Given the description of an element on the screen output the (x, y) to click on. 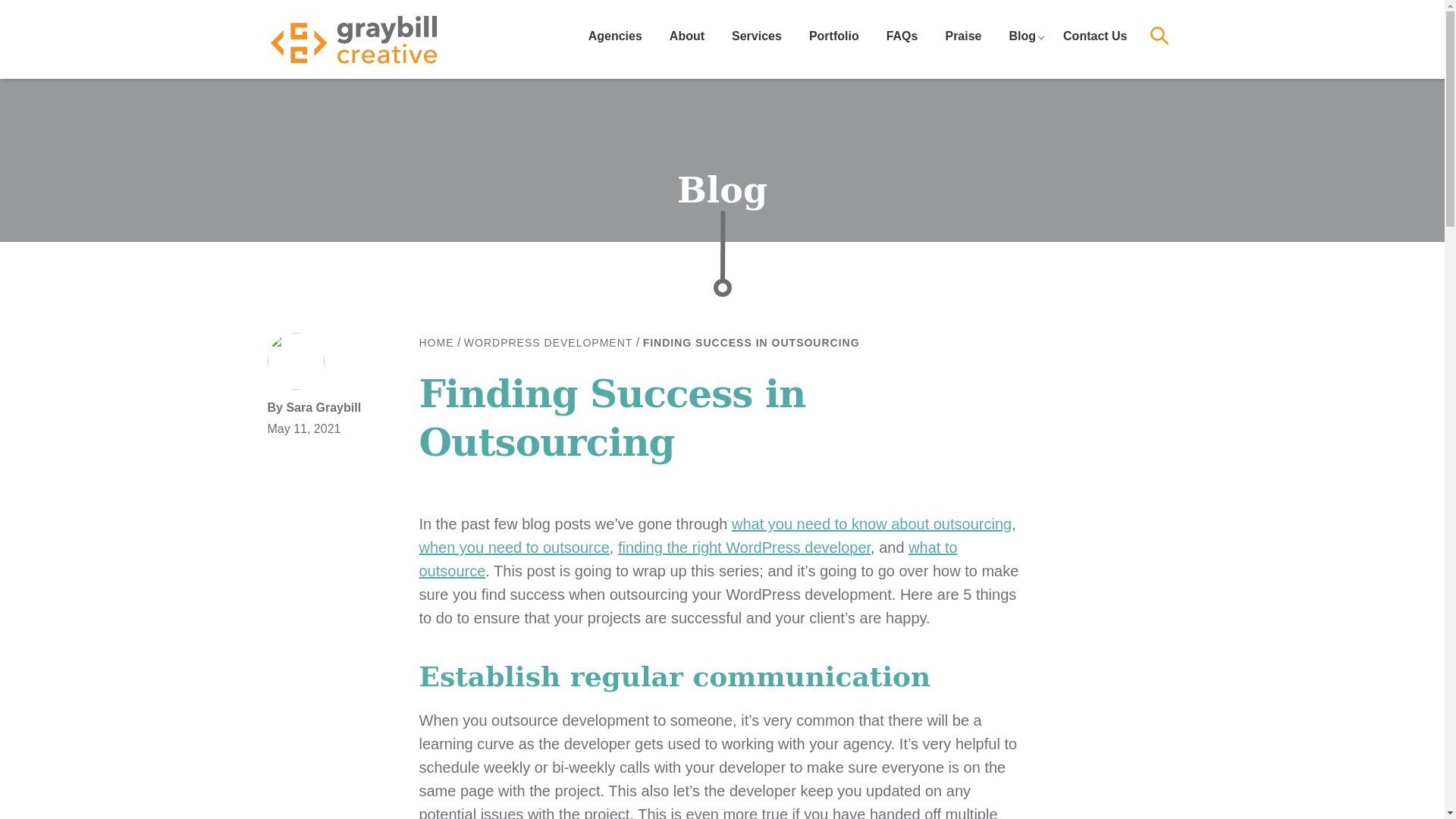
HOME (435, 342)
By Sara Graybill (323, 407)
finding the right WordPress developer (743, 547)
Contact Us (1094, 37)
Portfolio (833, 37)
Graybill Creative (352, 38)
Services (755, 37)
what you need to know about outsourcing (871, 523)
when you need to outsource (513, 547)
WORDPRESS DEVELOPMENT (547, 342)
Agencies (615, 37)
what to outsource (687, 558)
